Given the description of an element on the screen output the (x, y) to click on. 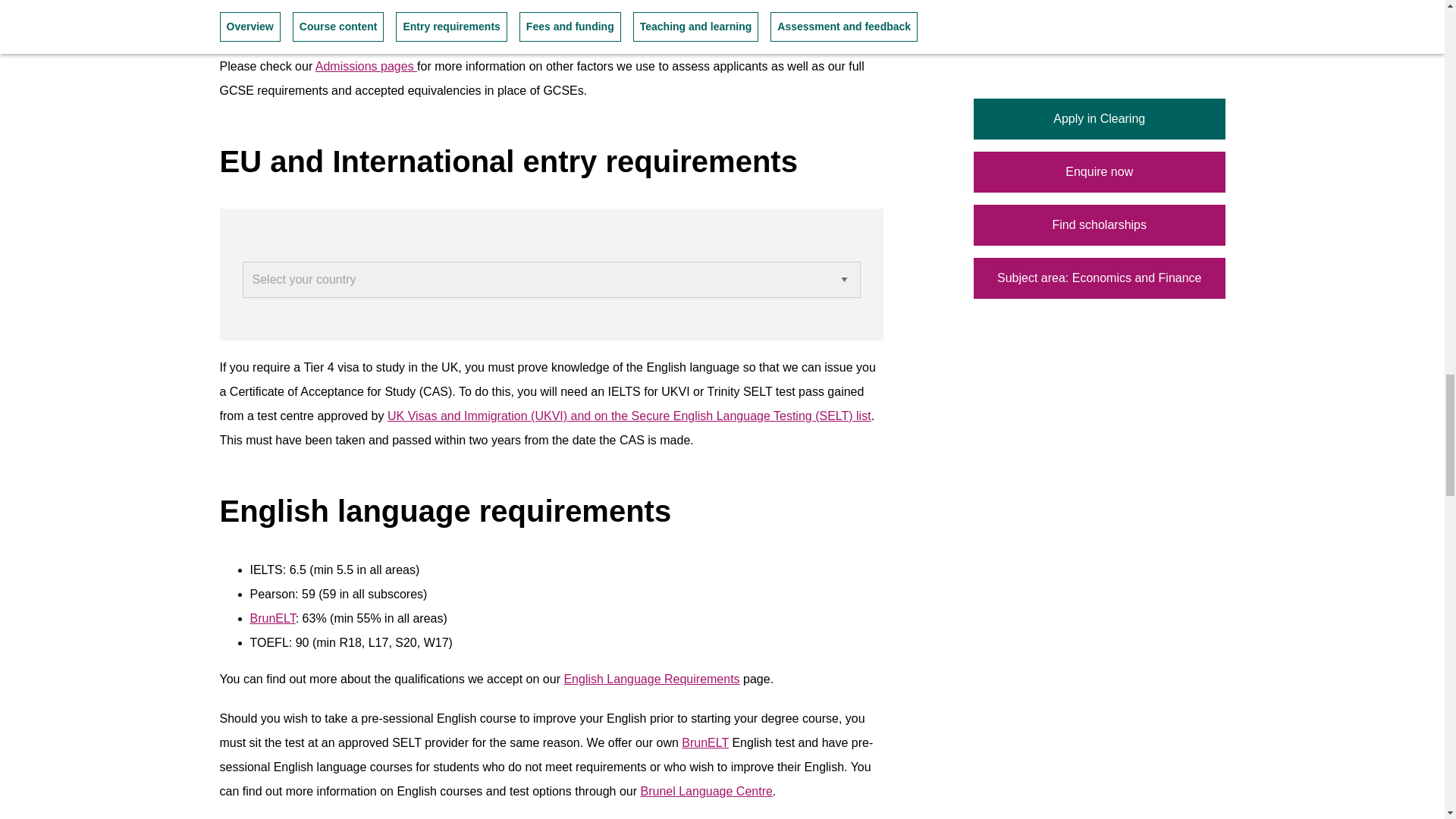
Admissions pages (365, 65)
Admissions Process (365, 65)
BrunELT (272, 617)
BrunELT (272, 617)
BrunELT (705, 742)
English Language Requirements (651, 678)
Brunel Language Centre (705, 790)
